Given the description of an element on the screen output the (x, y) to click on. 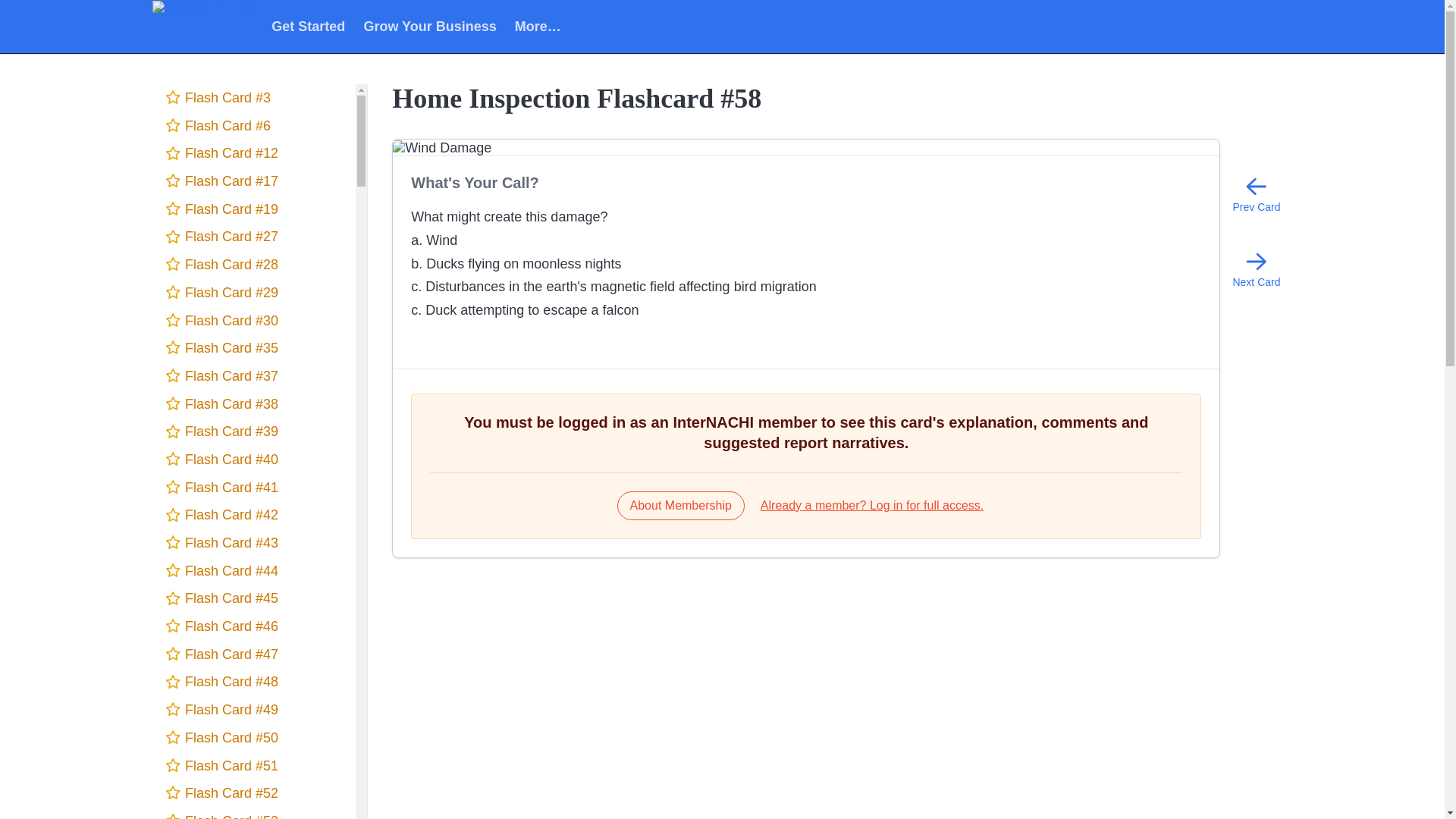
Prev Card (1255, 194)
Previous Card (1255, 194)
Get Started (307, 26)
About Membership (680, 505)
Grow Your Business (429, 26)
Next Card (1255, 268)
Already a member? Log in for full access. (871, 505)
Next Card (1255, 268)
